Given the description of an element on the screen output the (x, y) to click on. 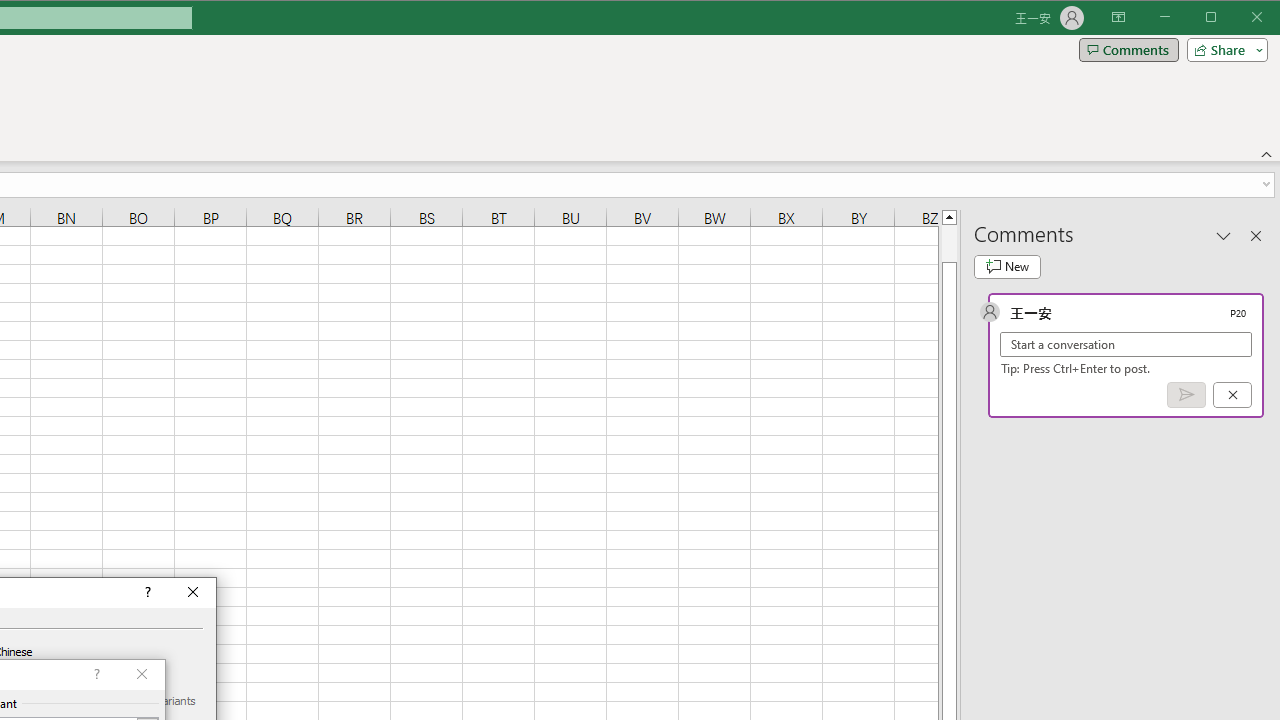
Context help (146, 592)
